Given the description of an element on the screen output the (x, y) to click on. 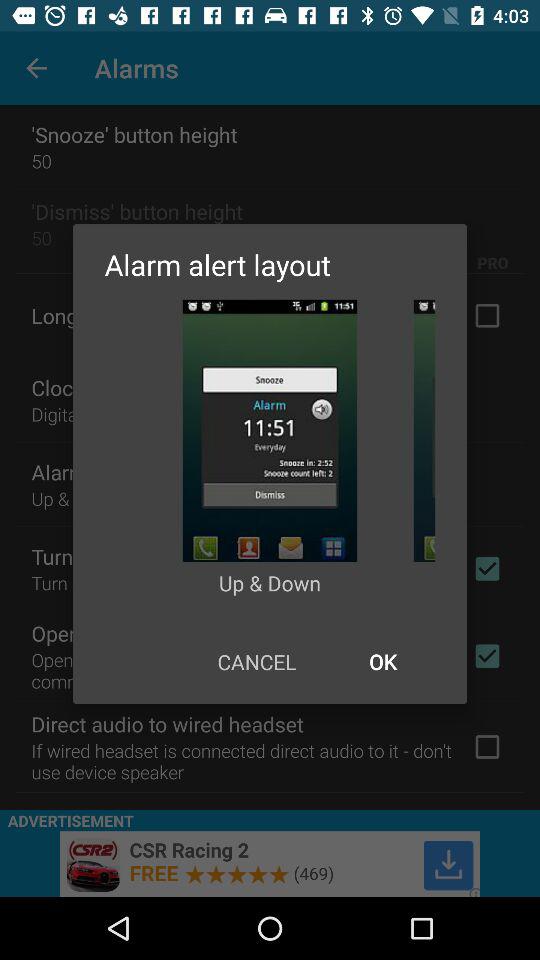
select the icon to the right of cancel icon (382, 661)
